Given the description of an element on the screen output the (x, y) to click on. 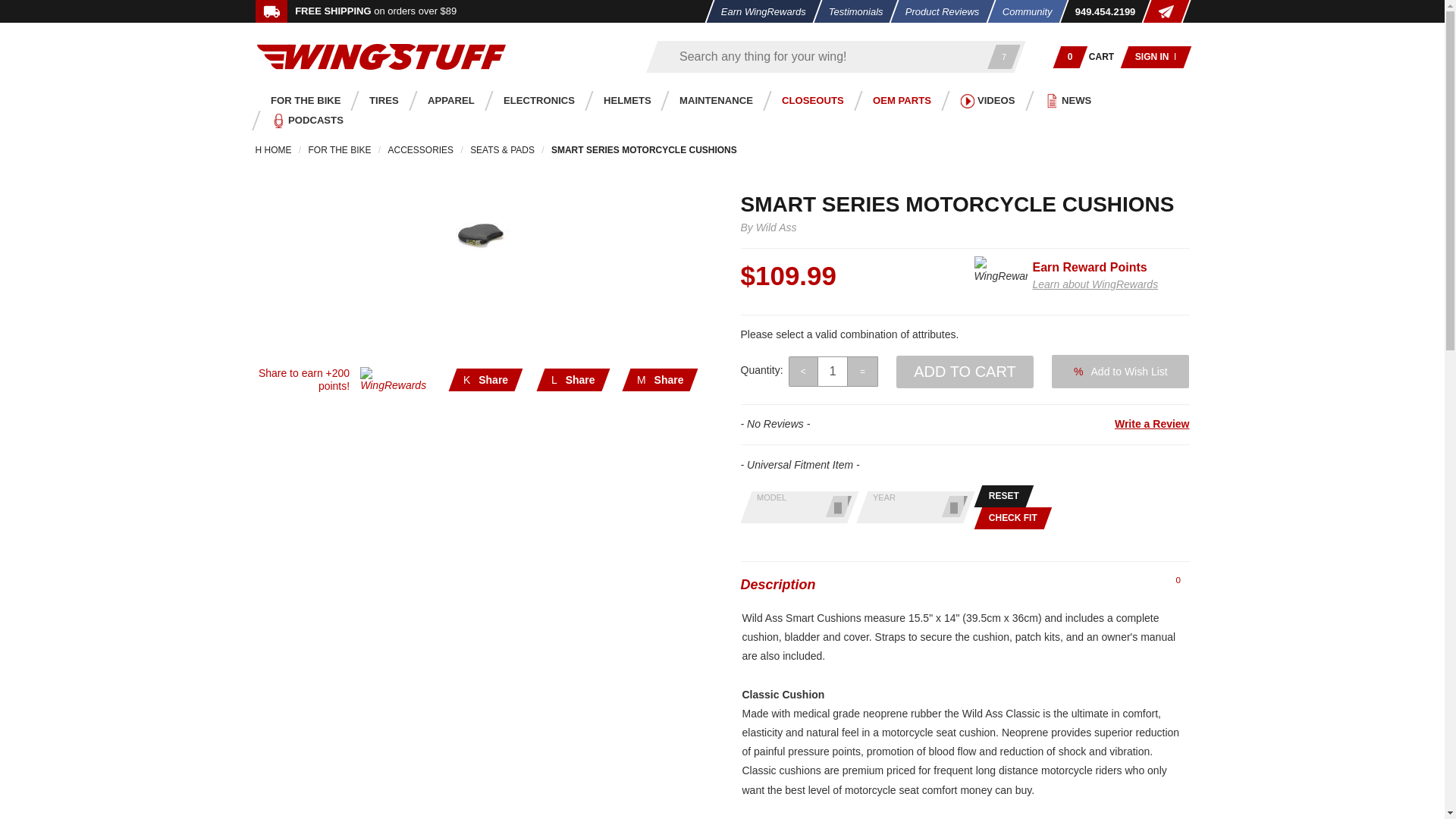
1 (832, 371)
FOR THE BIKE (300, 100)
WingStuff (380, 55)
Product Reviews (938, 11)
Testimonials (850, 11)
949.454.2199 (1099, 11)
Earn WingRewards (758, 11)
Community (1021, 11)
CART (1101, 56)
